Given the description of an element on the screen output the (x, y) to click on. 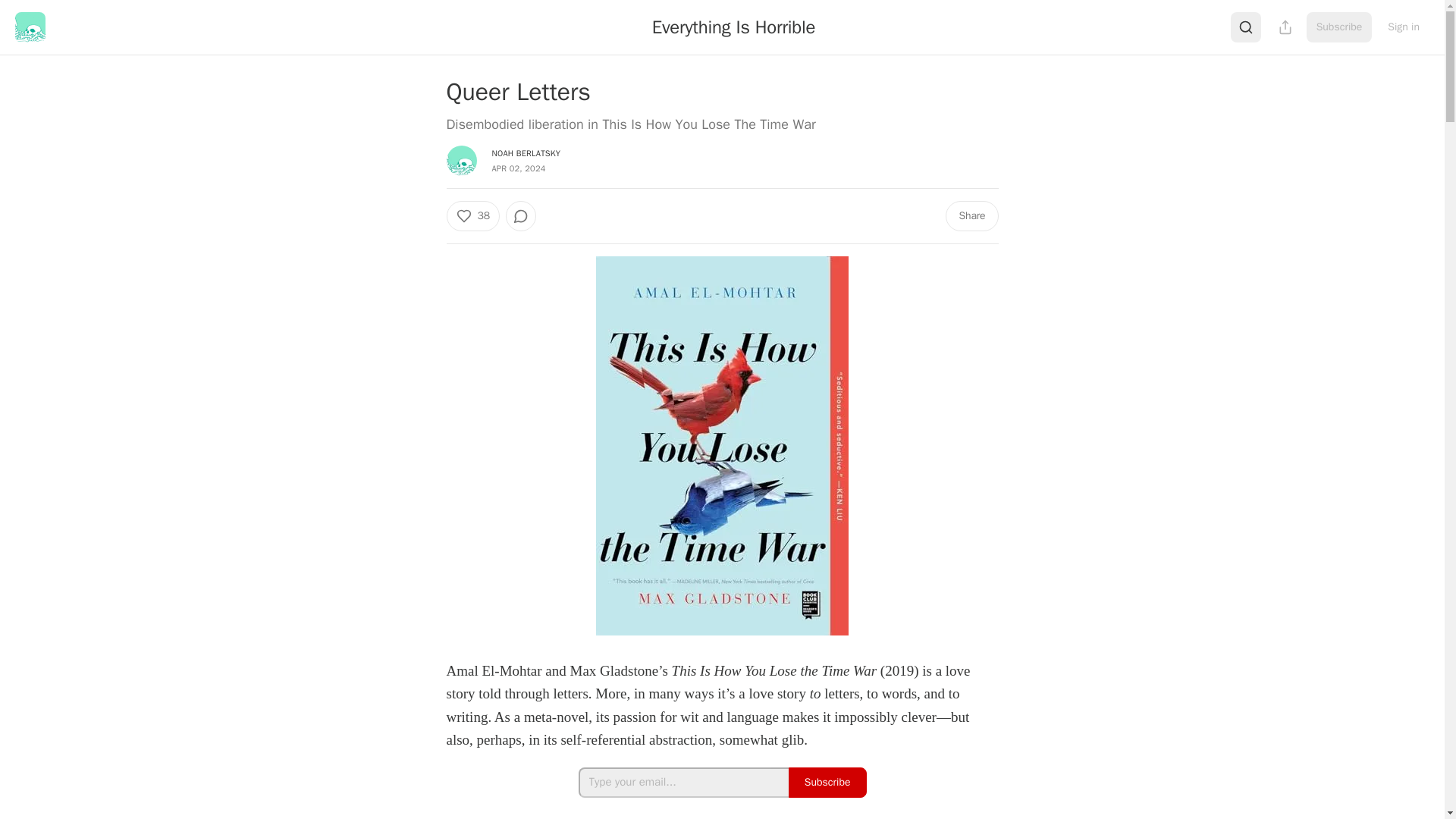
Subscribe (1339, 27)
NOAH BERLATSKY (526, 153)
Share (970, 215)
38 (472, 215)
Everything Is Horrible (733, 26)
Sign in (1403, 27)
Subscribe (827, 782)
